Given the description of an element on the screen output the (x, y) to click on. 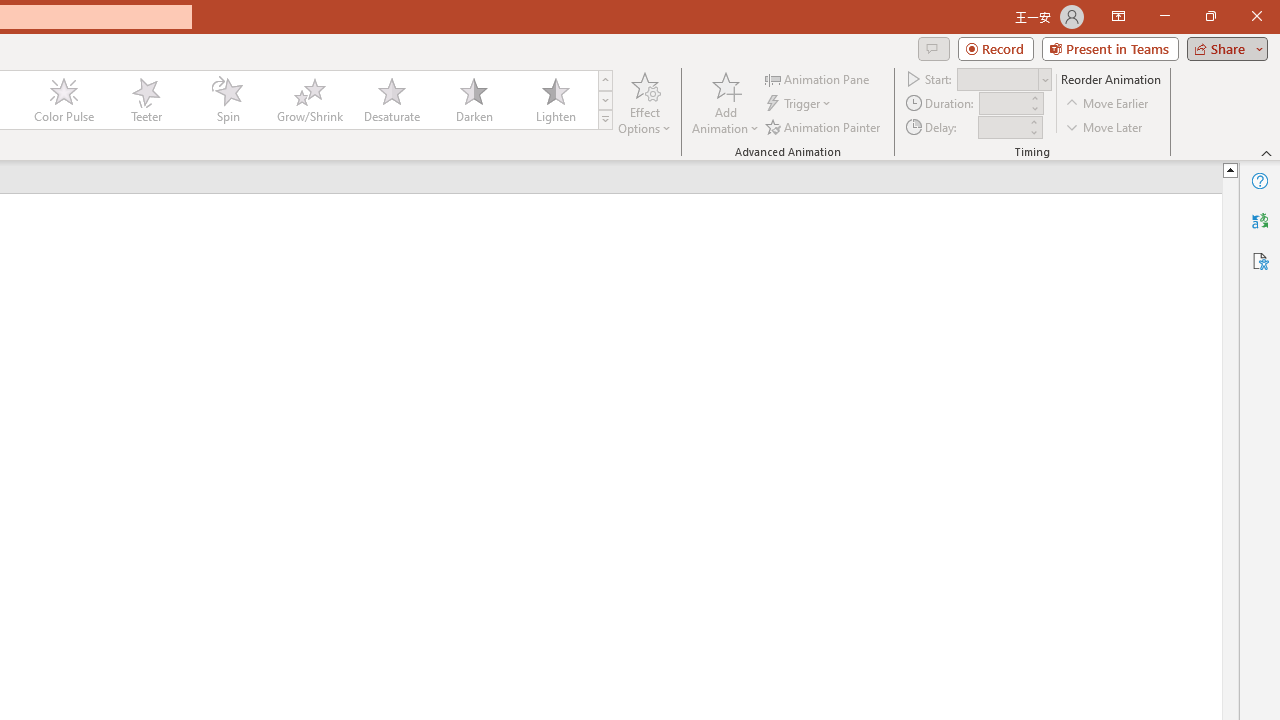
Translator (1260, 220)
Animation Duration (1003, 103)
Animation Painter (824, 126)
Teeter (145, 100)
Lighten (555, 100)
Trigger (799, 103)
Darken (473, 100)
